Given the description of an element on the screen output the (x, y) to click on. 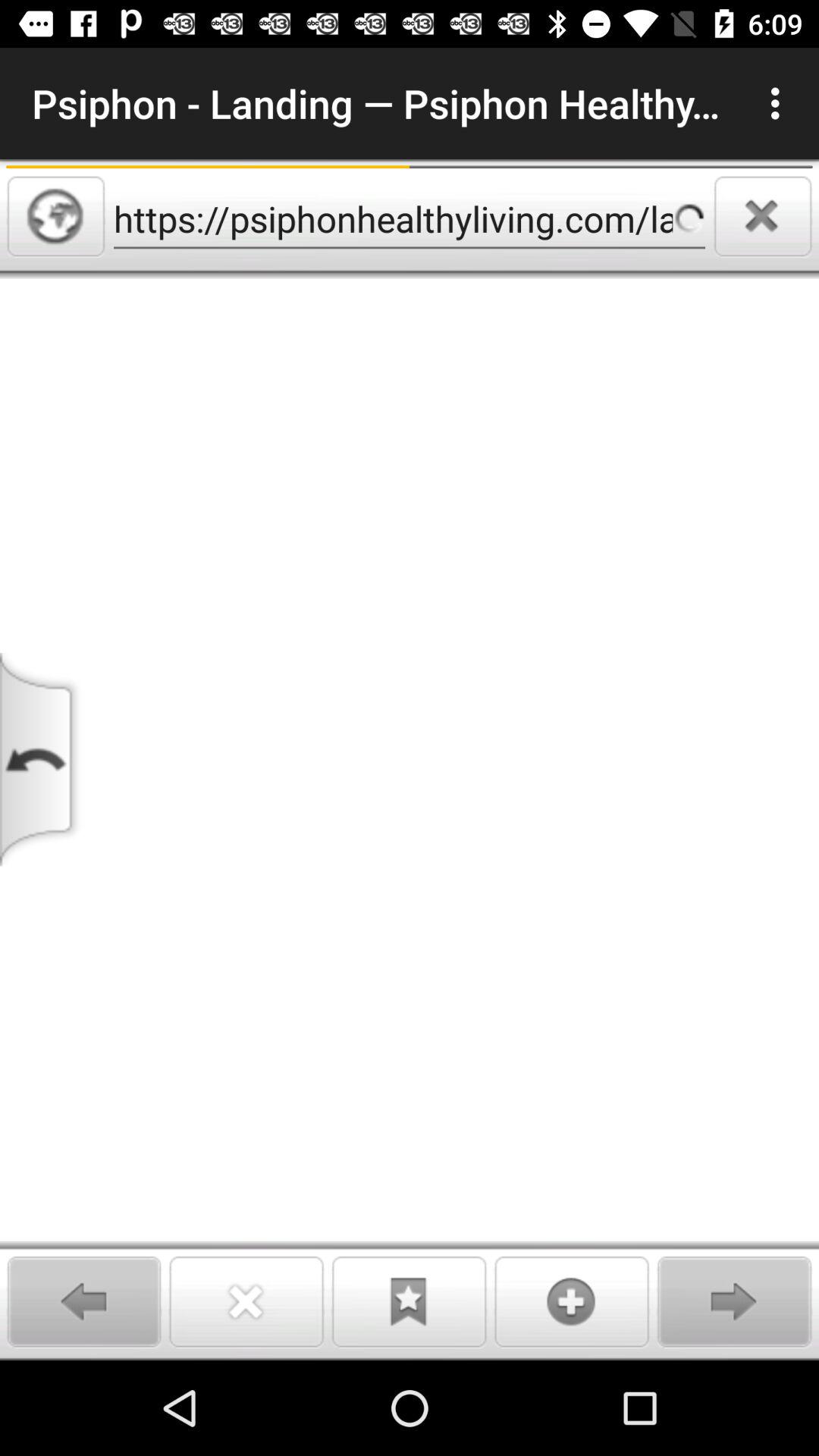
website page (409, 819)
